Given the description of an element on the screen output the (x, y) to click on. 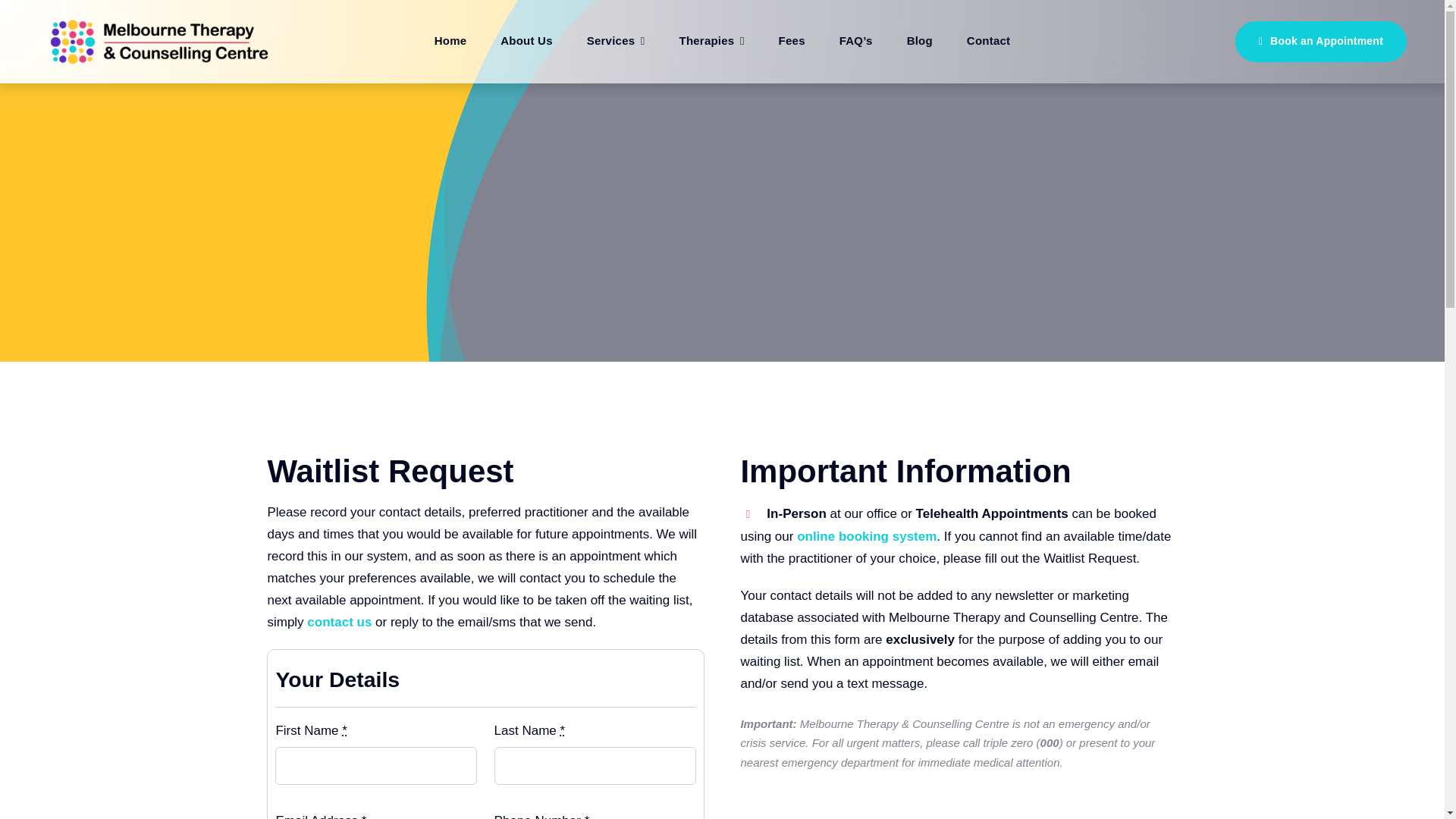
contact us (339, 622)
Home (450, 41)
About Us (525, 41)
Blog (920, 41)
Counselling Services (615, 41)
Services (615, 41)
Therapies (711, 41)
Contact (988, 41)
Contact Us (988, 41)
About Us (525, 41)
Our Fees (791, 41)
online booking system (866, 536)
Book an Appointment (1320, 41)
Our Blog (920, 41)
Frequently Asked Questions (856, 41)
